Given the description of an element on the screen output the (x, y) to click on. 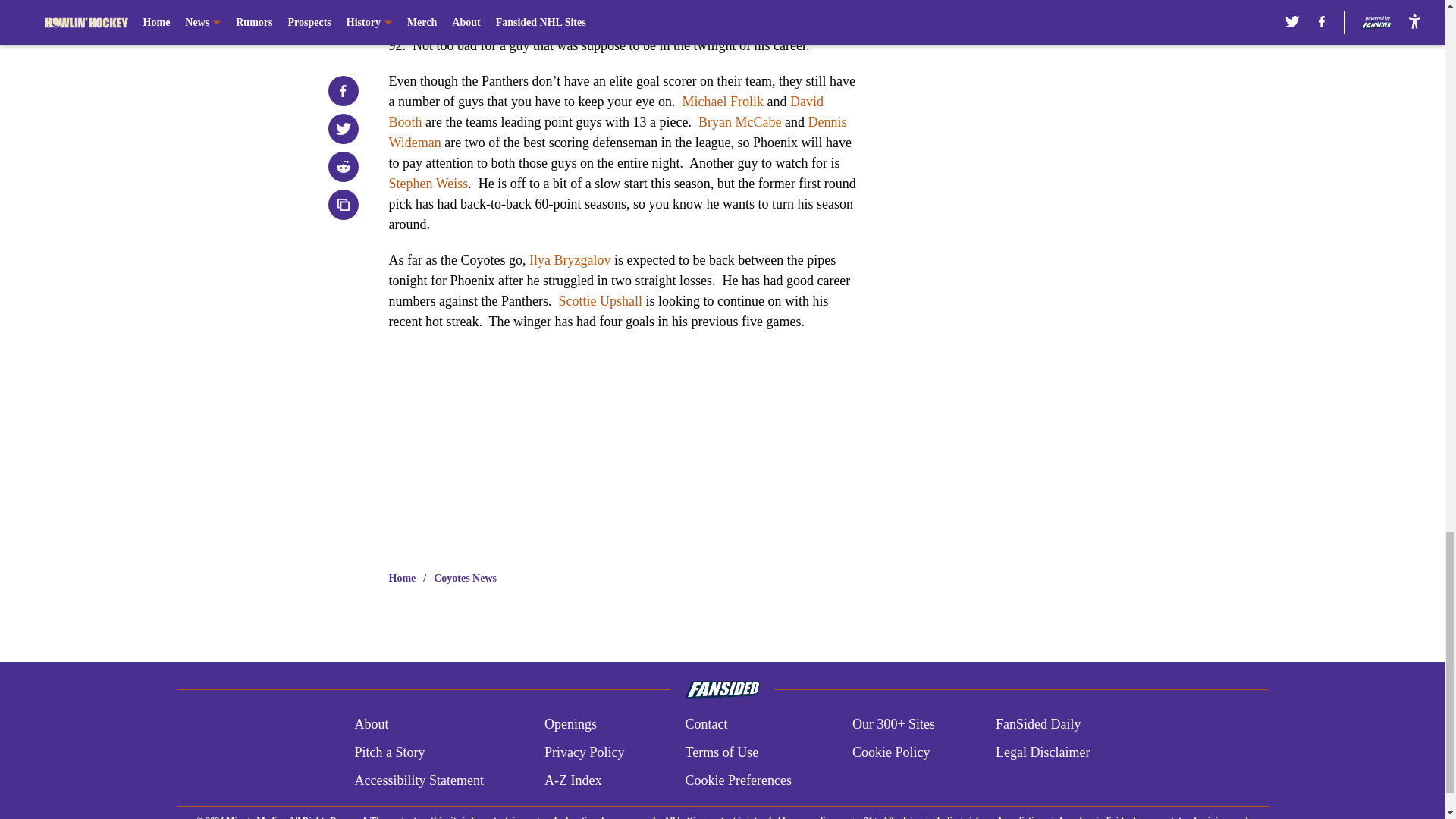
Contact (705, 724)
David Booth (605, 111)
Ilya Bryzgalov (567, 259)
Coyotes News (464, 578)
Openings (570, 724)
Dennis Wideman (616, 131)
Scottie Upshall (599, 300)
Bryan McCabe (741, 121)
Michael Frolik (721, 101)
About (370, 724)
